Given the description of an element on the screen output the (x, y) to click on. 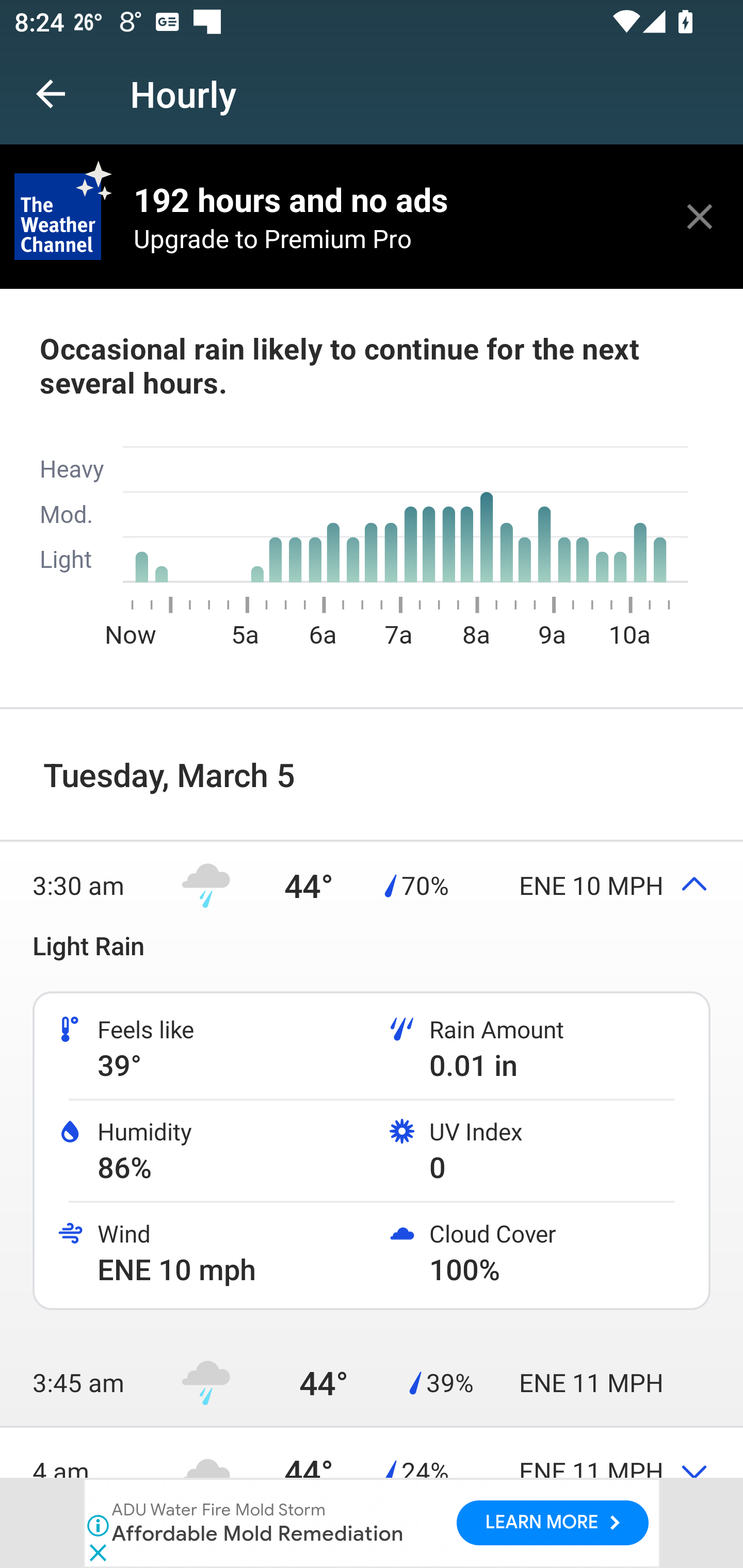
Navigate up (50, 93)
close this (699, 216)
3:30 am 44° 70% ENE 10 MPH (371, 885)
ADU Water Fire Mold Storm (218, 1510)
LEARN MORE (551, 1522)
Affordable Mold Remediation (258, 1533)
